Given the description of an element on the screen output the (x, y) to click on. 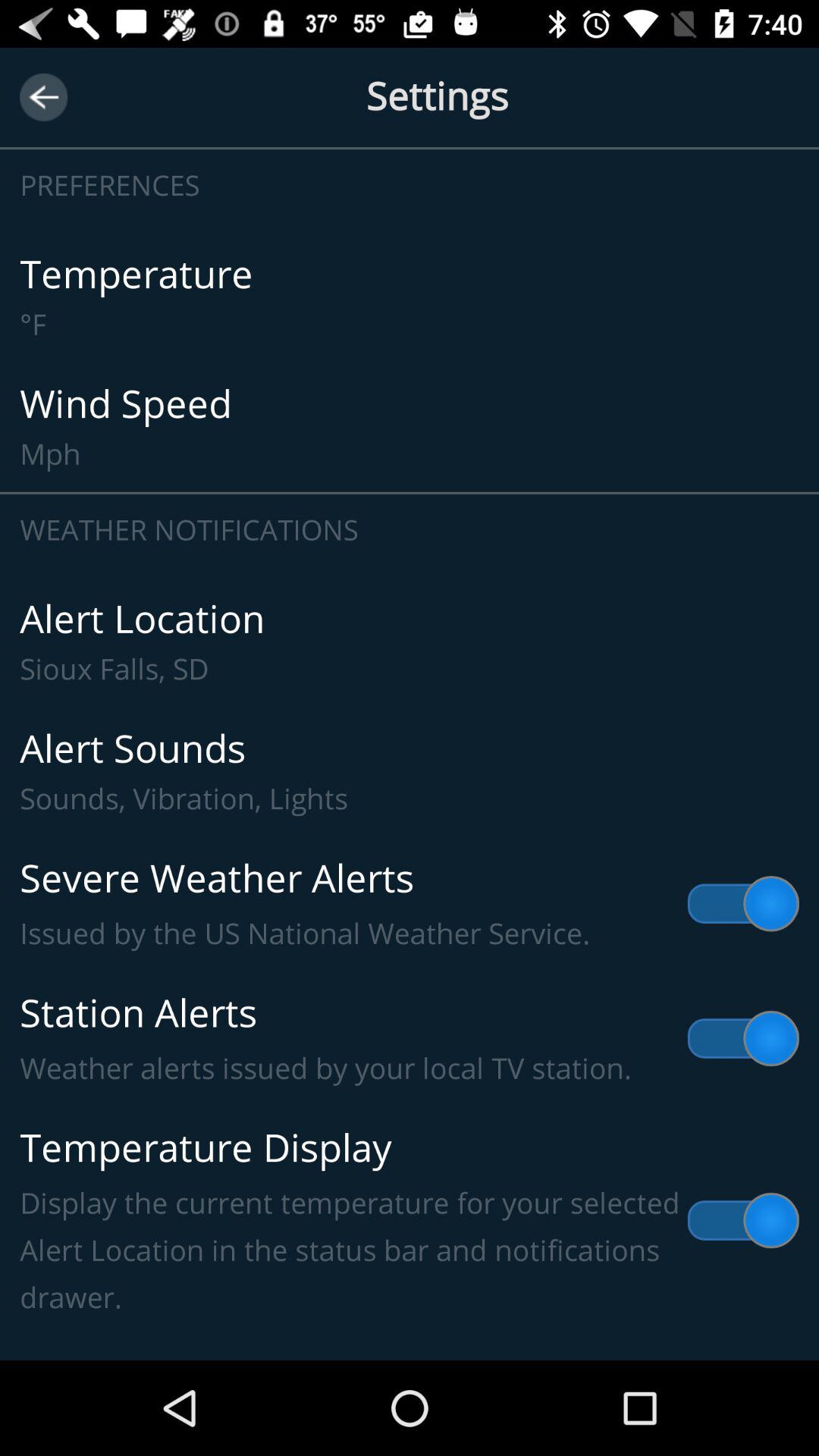
tap the lock screen weather icon (409, 1337)
